Given the description of an element on the screen output the (x, y) to click on. 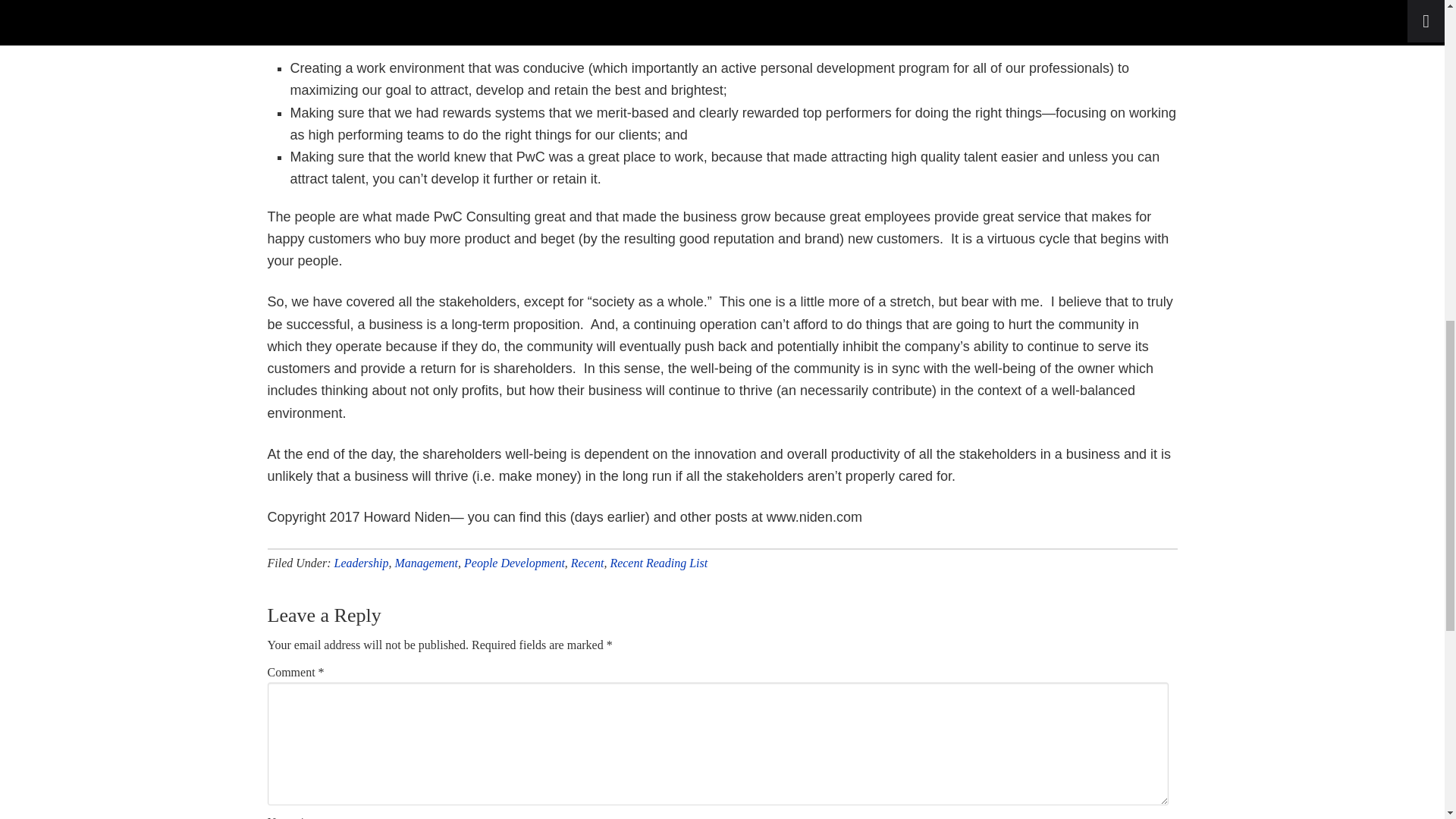
Recent (587, 562)
Leadership (360, 562)
People Development (514, 562)
Recent Reading List (658, 562)
Management (426, 562)
